Given the description of an element on the screen output the (x, y) to click on. 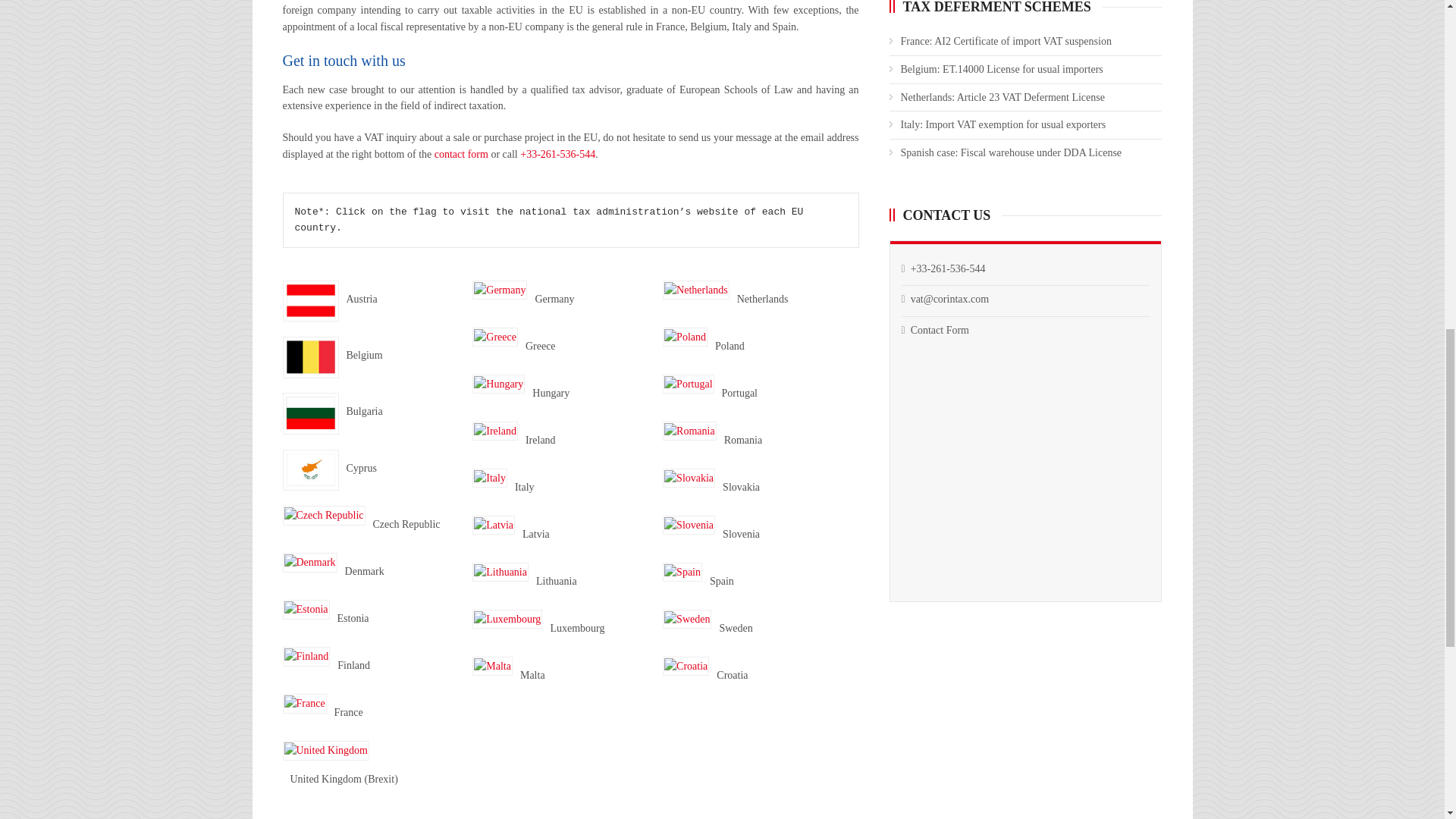
Bulgaria (309, 413)
United Kingdom (325, 750)
Czech Republic (323, 515)
Ireland (494, 431)
Denmark (309, 562)
Belgium (309, 357)
Estonia (305, 609)
France (304, 703)
Hungary (497, 383)
Greece (494, 337)
